Given the description of an element on the screen output the (x, y) to click on. 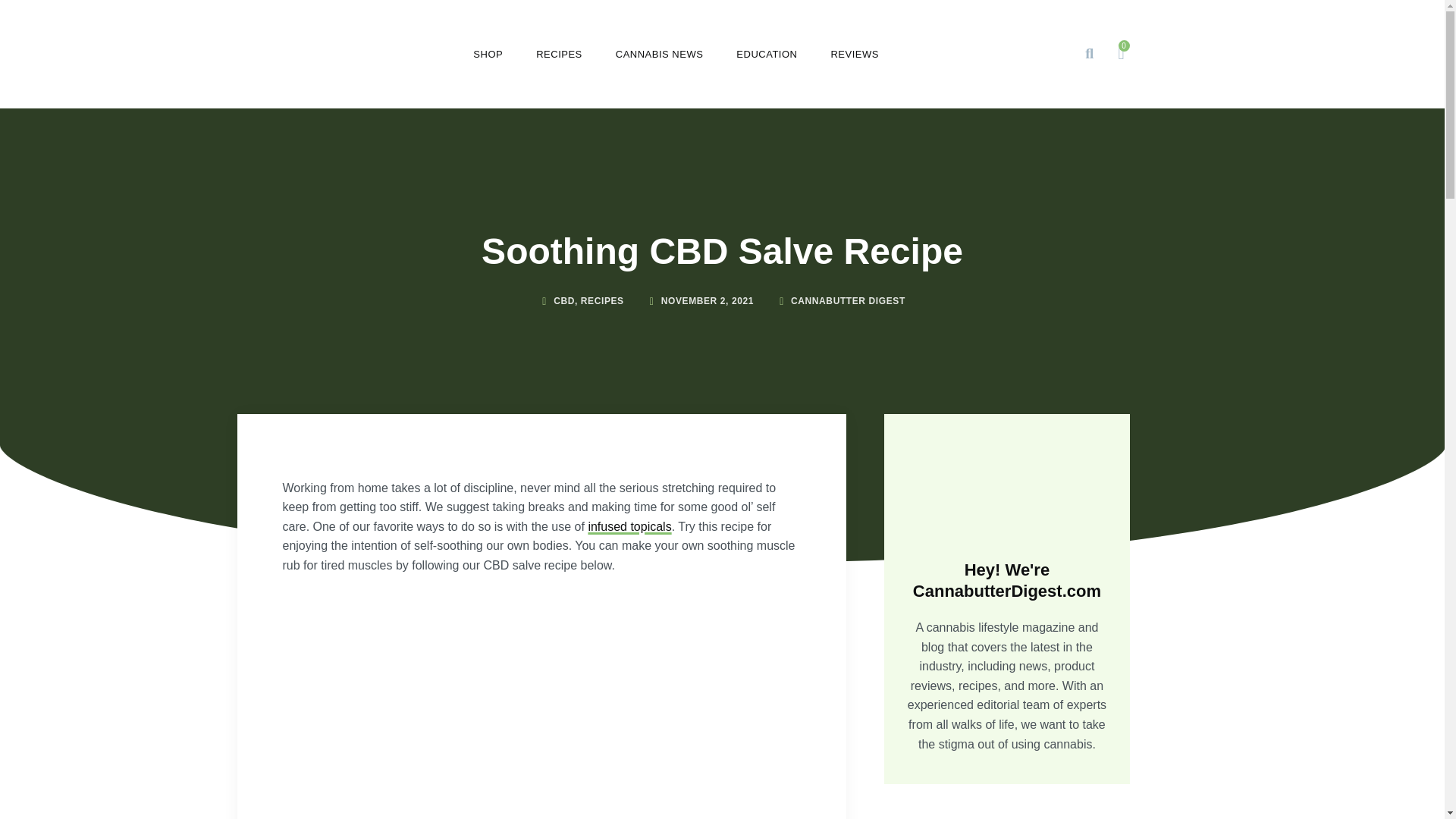
SHOP (488, 53)
RECIPES (559, 53)
CANNABIS NEWS (660, 53)
REVIEWS (853, 53)
EDUCATION (766, 53)
